Given the description of an element on the screen output the (x, y) to click on. 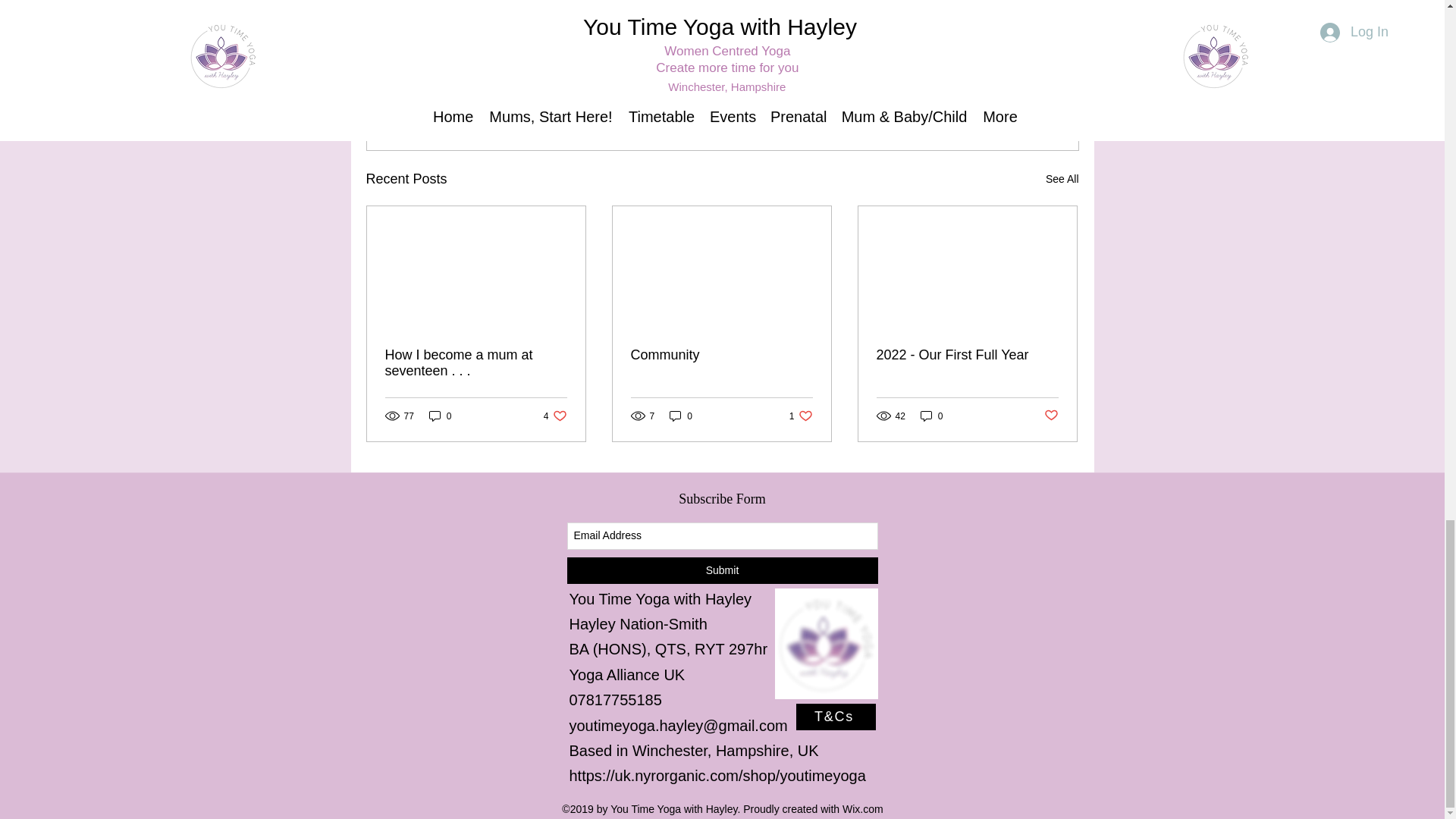
Submit (722, 570)
How I become a mum at seventeen . . . (555, 415)
Post not marked as liked (476, 363)
0 (995, 96)
2022 - Our First Full Year (440, 415)
0 (967, 355)
See All (681, 415)
Post not marked as liked (1061, 179)
0 (1050, 415)
Community (931, 415)
